Given the description of an element on the screen output the (x, y) to click on. 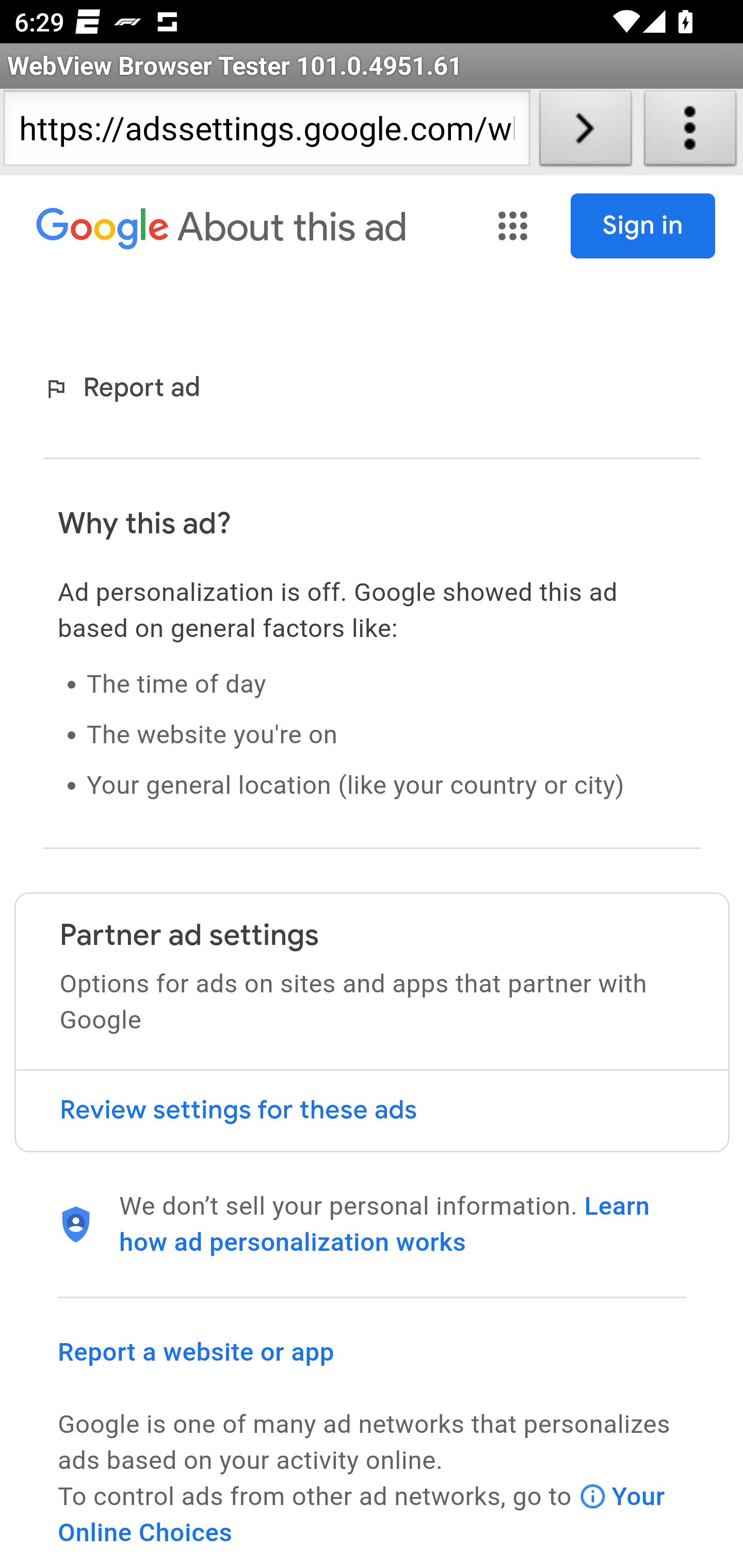
https://adssettings.google.com/whythisad (266, 132)
Load URL (585, 132)
About WebView (690, 132)
Google apps (514, 226)
Sign in (643, 226)
Report ad (opens in new tab) Report ad (126, 388)
Review settings for these ads (371, 1110)
Learn how ad personalization works (384, 1224)
Report a website or app (196, 1351)
Your Online Choices (361, 1514)
